Given the description of an element on the screen output the (x, y) to click on. 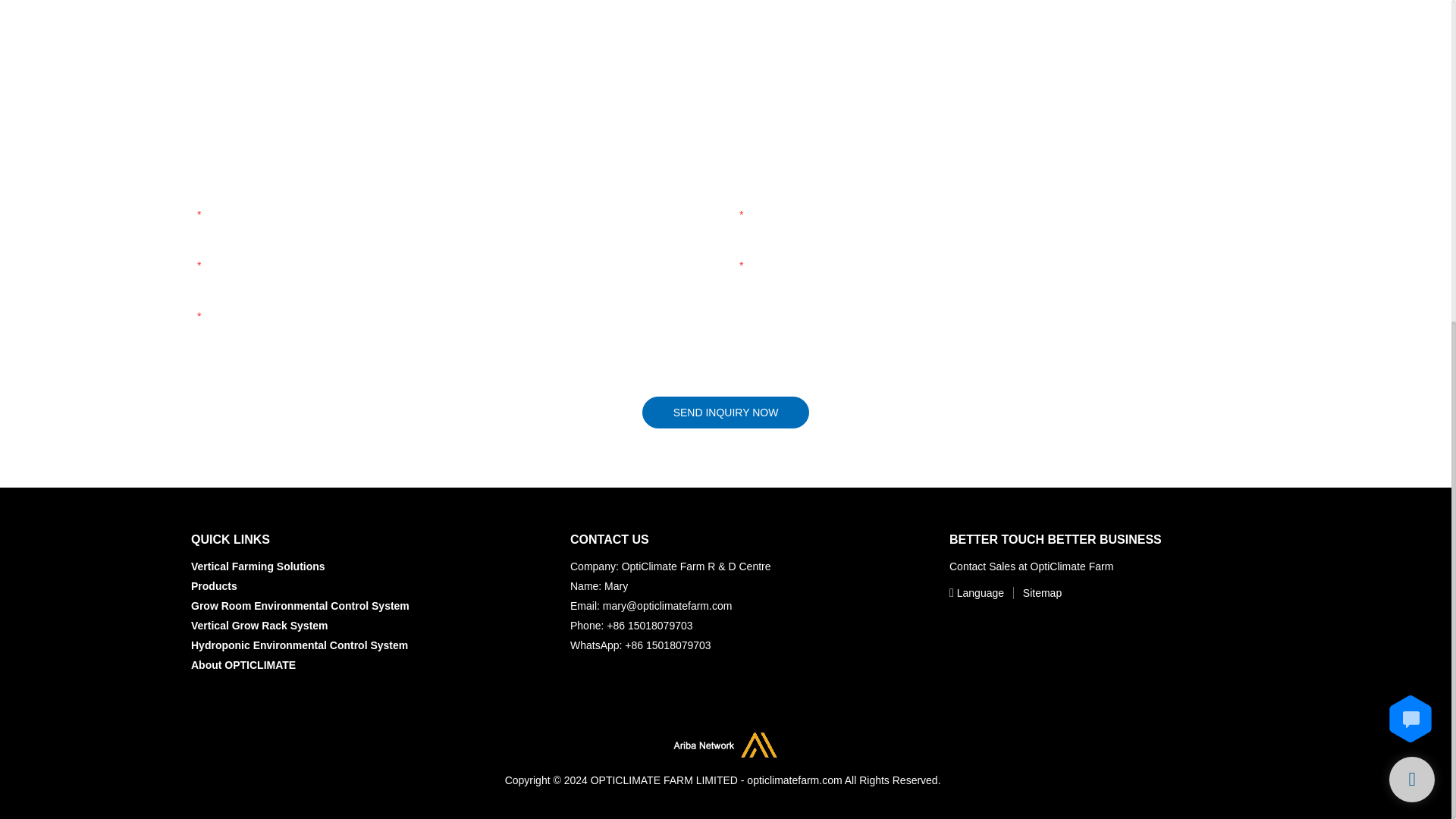
Language (978, 592)
SEND INQUIRY NOW (725, 412)
Grow Room Environmental Control System (299, 605)
Hydroponic Environmental Control System (298, 645)
Vertical Farming Solutions (257, 566)
Vertical Grow Rack System (259, 625)
Products (213, 585)
About OPTICLIMATE (242, 664)
